Given the description of an element on the screen output the (x, y) to click on. 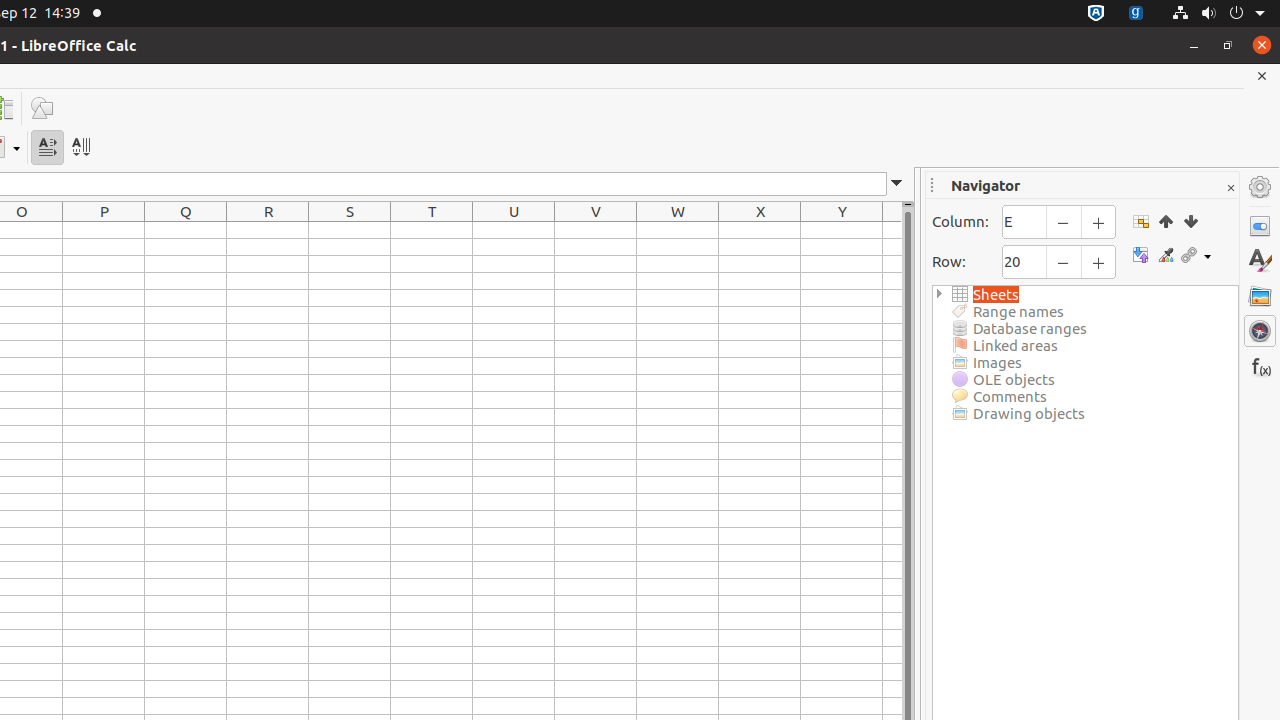
Functions Element type: radio-button (1260, 366)
V1 Element type: table-cell (596, 230)
Styles Element type: radio-button (1260, 261)
Z1 Element type: table-cell (892, 230)
Scenarios Element type: push-button (1165, 255)
